Given the description of an element on the screen output the (x, y) to click on. 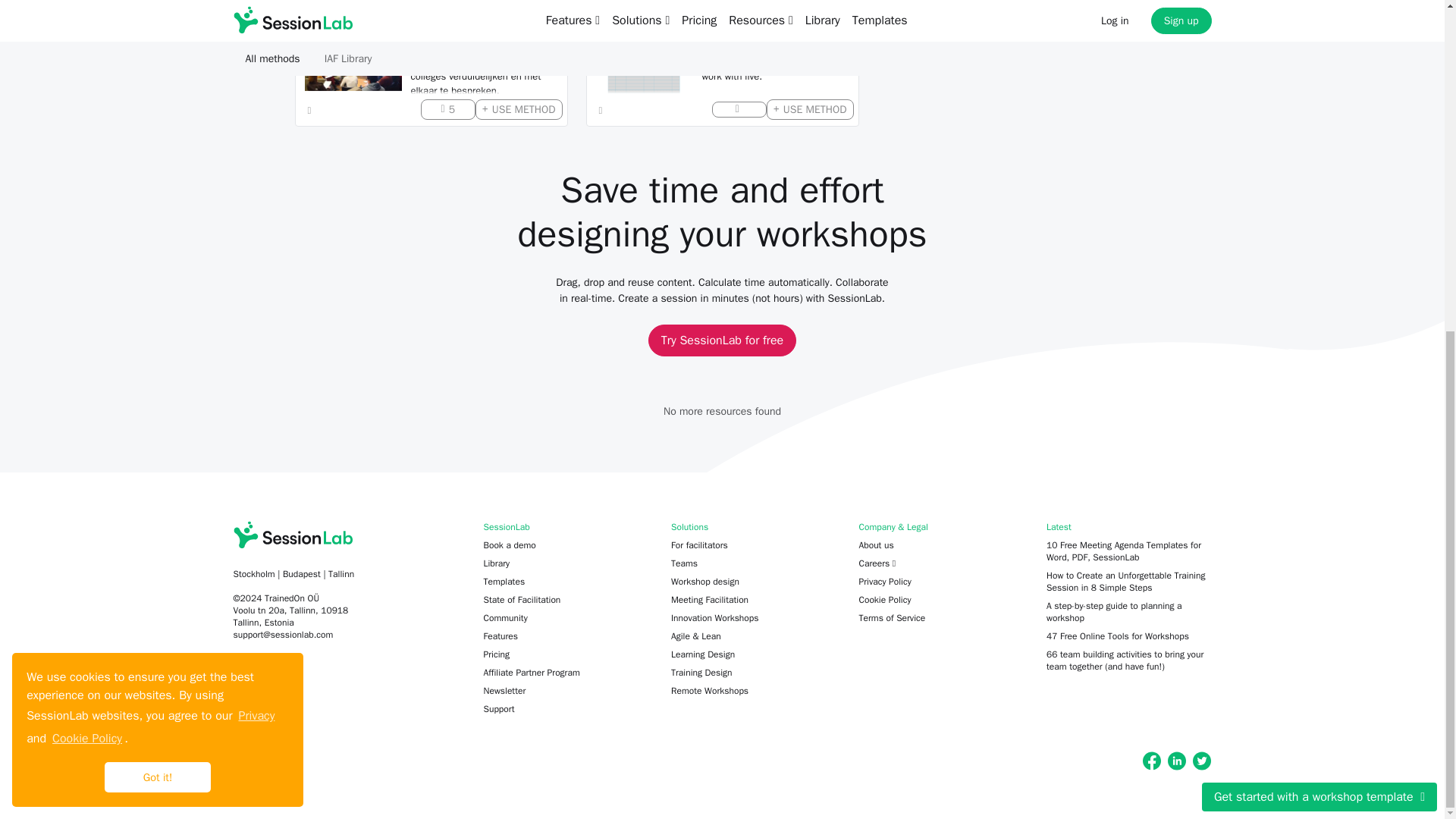
Cookie Policy (86, 187)
Got it! (157, 225)
Privacy (255, 164)
